Given the description of an element on the screen output the (x, y) to click on. 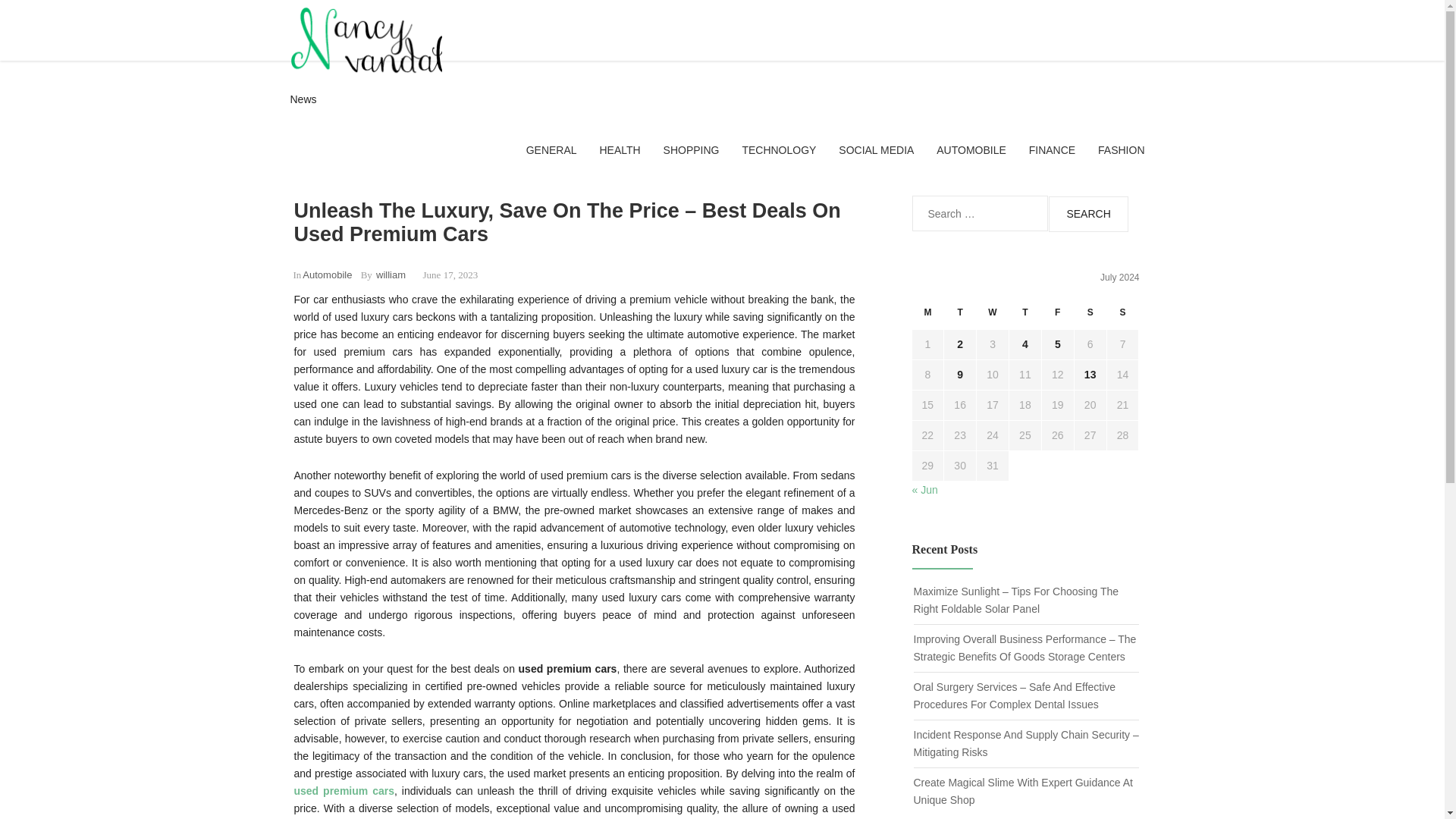
13 (1090, 374)
Thursday (1025, 316)
Friday (1057, 316)
Automobile (327, 274)
Create Magical Slime With Expert Guidance At Unique Shop (1022, 790)
Tuesday (959, 316)
Search (1087, 212)
Search (1087, 212)
TECHNOLOGY (778, 149)
Saturday (1090, 316)
SHOPPING (691, 149)
SOCIAL MEDIA (876, 149)
Search (1087, 212)
AUTOMOBILE (971, 149)
used premium cars (344, 790)
